Given the description of an element on the screen output the (x, y) to click on. 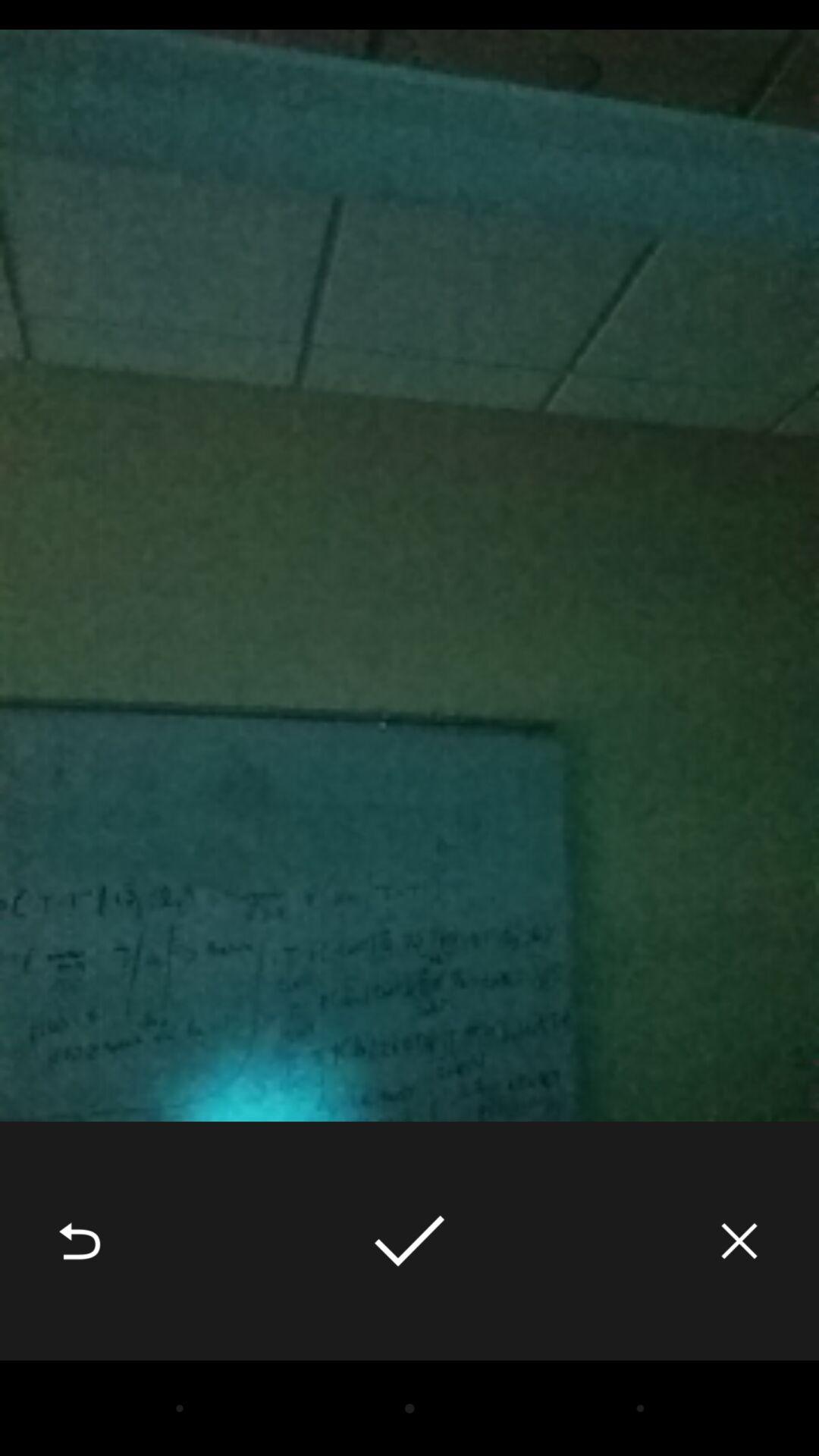
launch icon at the bottom left corner (79, 1240)
